Given the description of an element on the screen output the (x, y) to click on. 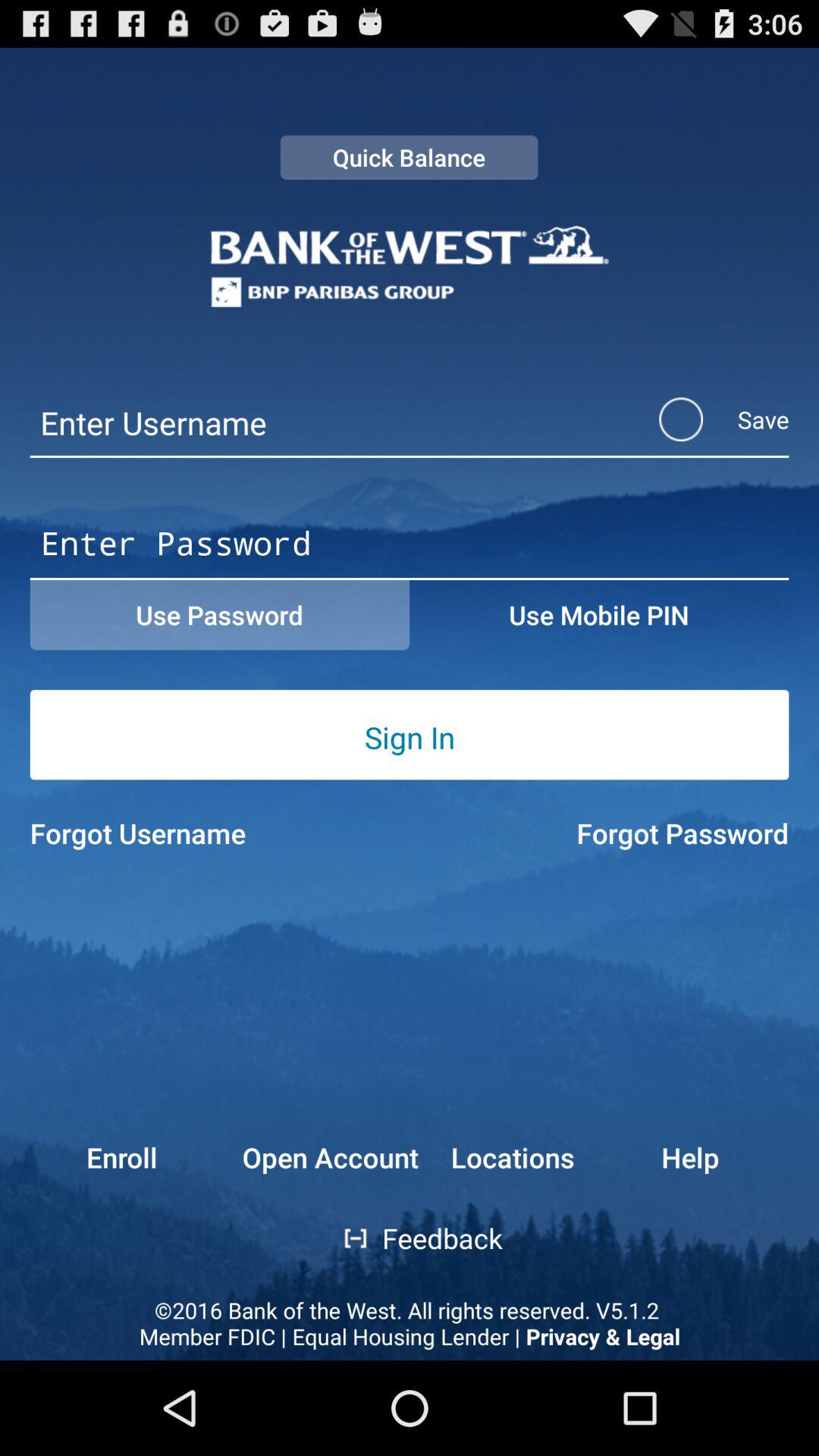
flip until locations button (512, 1157)
